Given the description of an element on the screen output the (x, y) to click on. 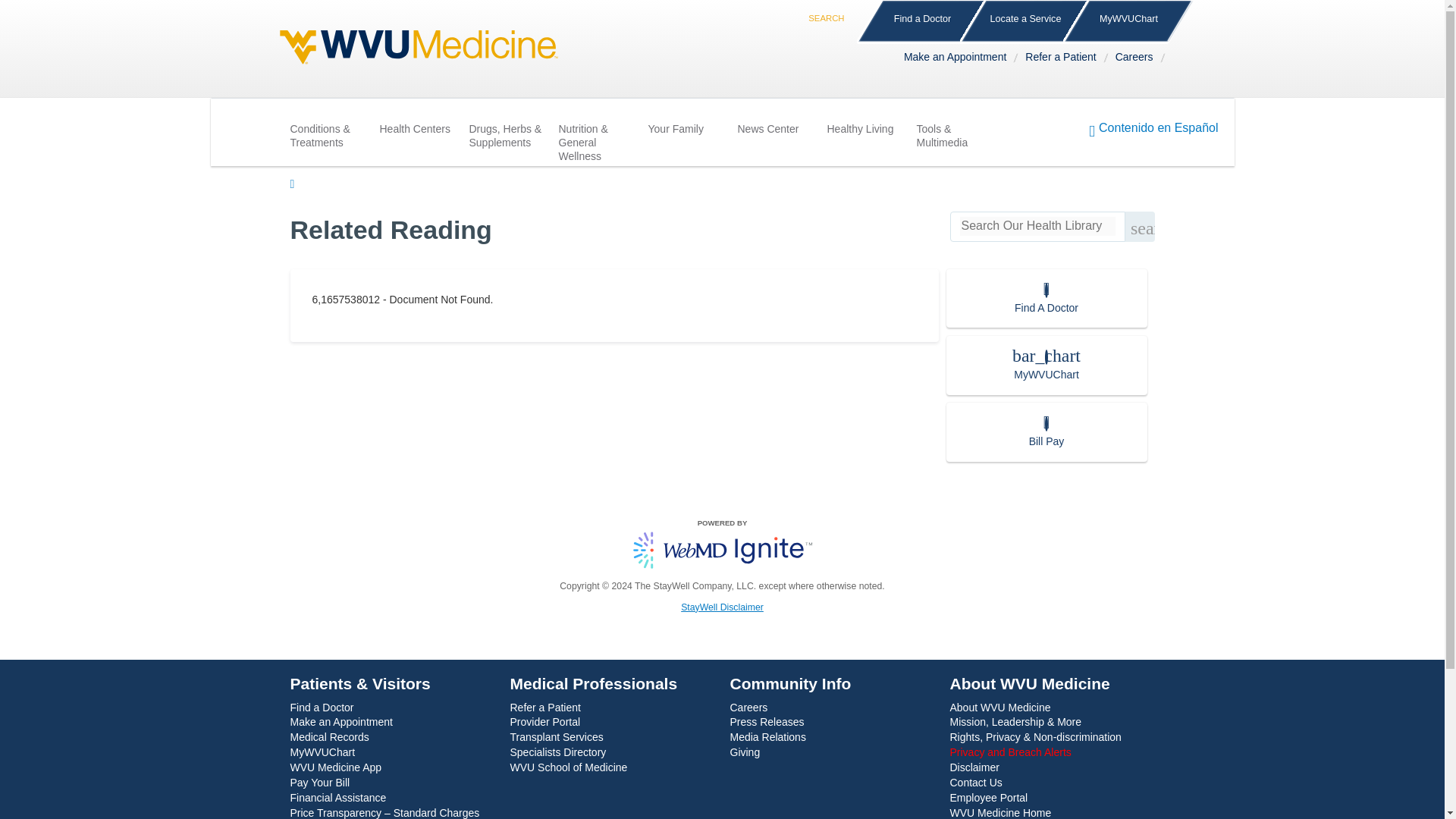
Careers (1137, 58)
Locate a Service (1025, 22)
MyWVUChart (1128, 22)
Make an Appointment (958, 58)
SEARCH (832, 9)
Careers (1137, 58)
MyWVUChart (1128, 22)
Refer a Patient (1063, 58)
Find a Doctor (922, 22)
Find a Doctor (922, 22)
Search (832, 9)
Make an Appointment (958, 58)
Locate a Service (1025, 22)
Refer a Patient (1063, 58)
